Given the description of an element on the screen output the (x, y) to click on. 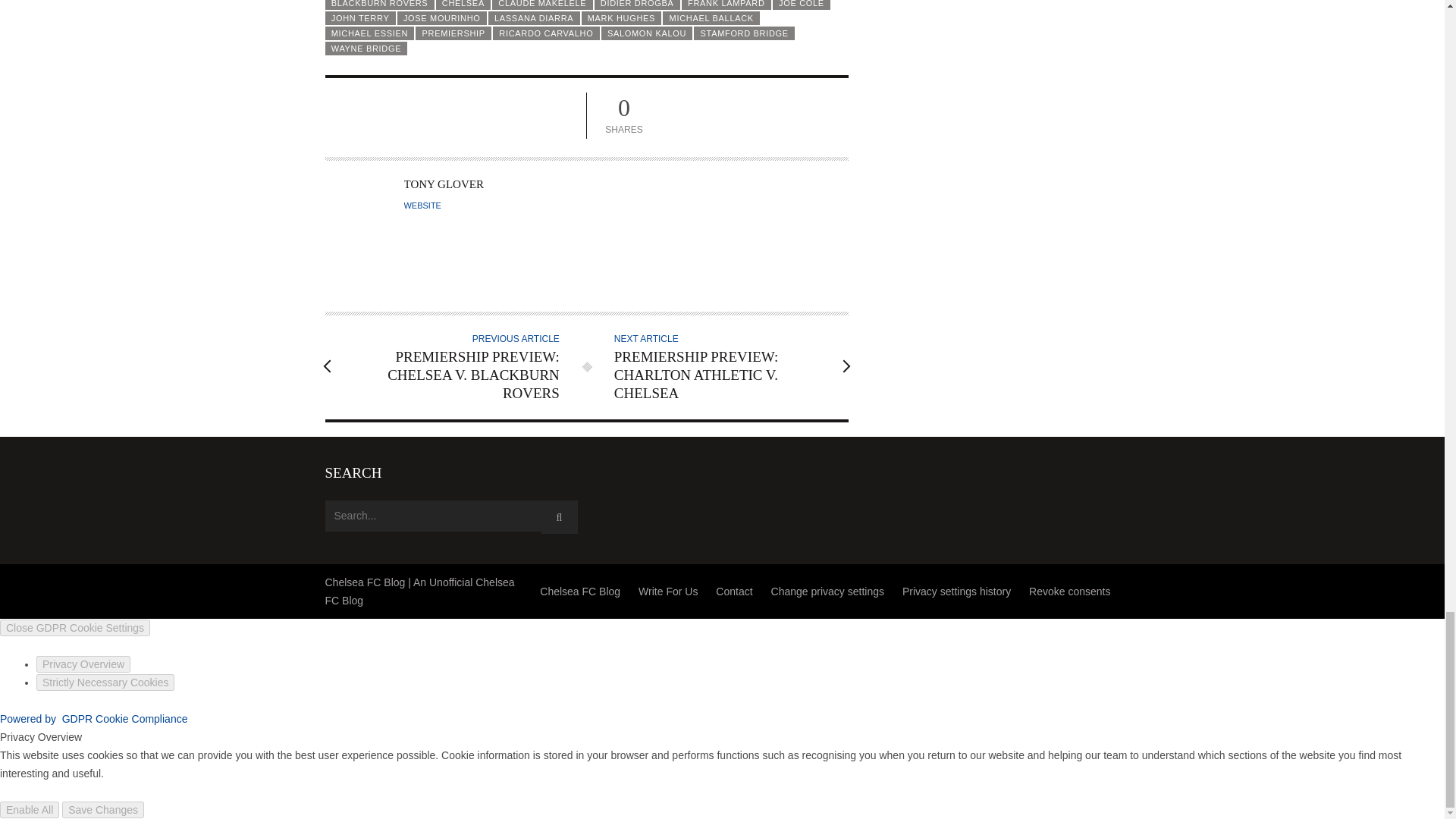
View all posts tagged Blackburn Rovers (378, 4)
